Given the description of an element on the screen output the (x, y) to click on. 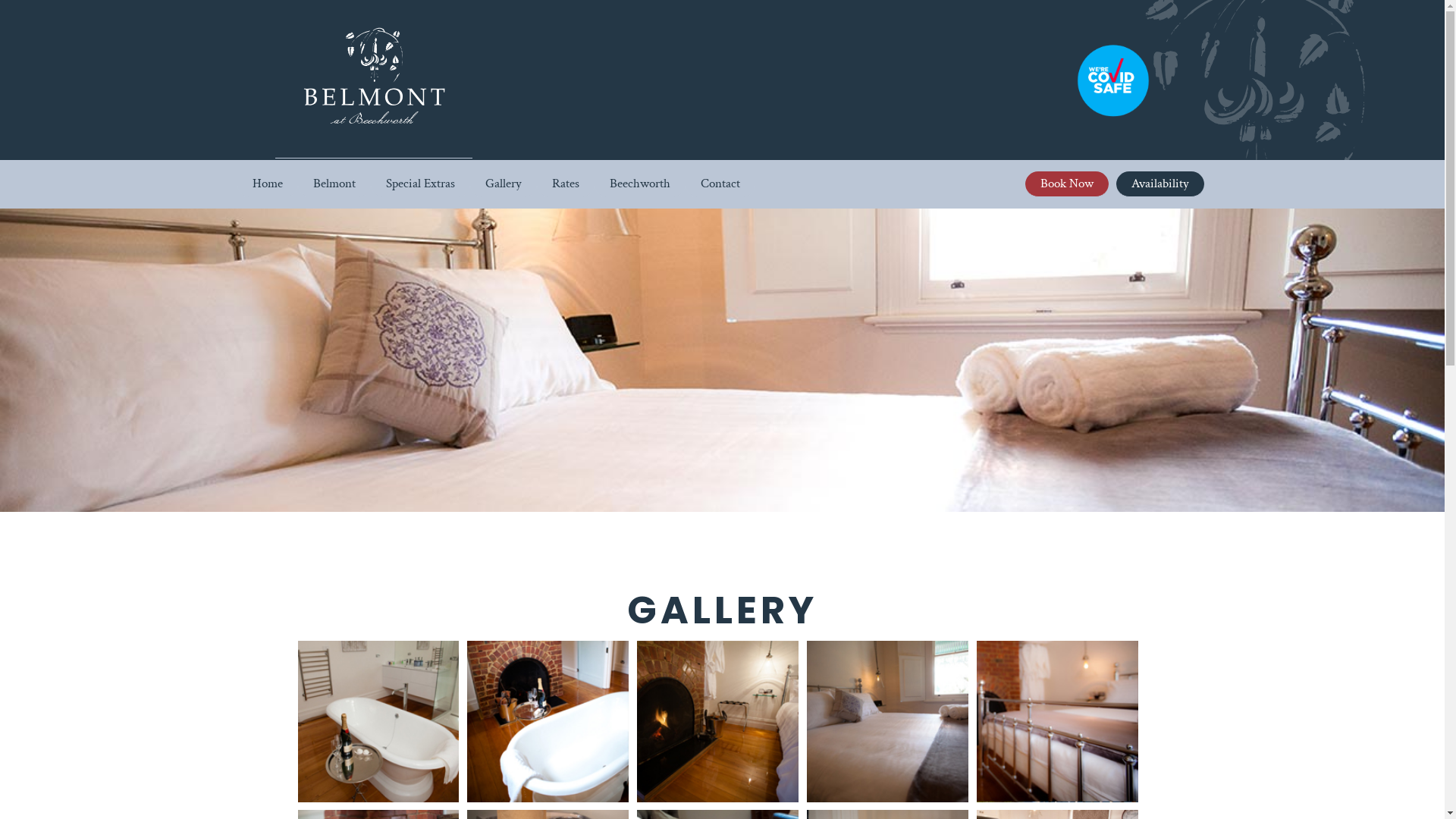
Availability Element type: text (1160, 184)
Rates Element type: text (565, 184)
Book Now Element type: text (1066, 184)
Home Element type: text (266, 184)
Belmont Element type: text (333, 184)
Belmont at Beechworth Logo Element type: hover (372, 76)
Beechworth Element type: text (639, 184)
Special Extras Element type: text (419, 184)
Contact Element type: text (720, 184)
Gallery Element type: text (503, 184)
